Given the description of an element on the screen output the (x, y) to click on. 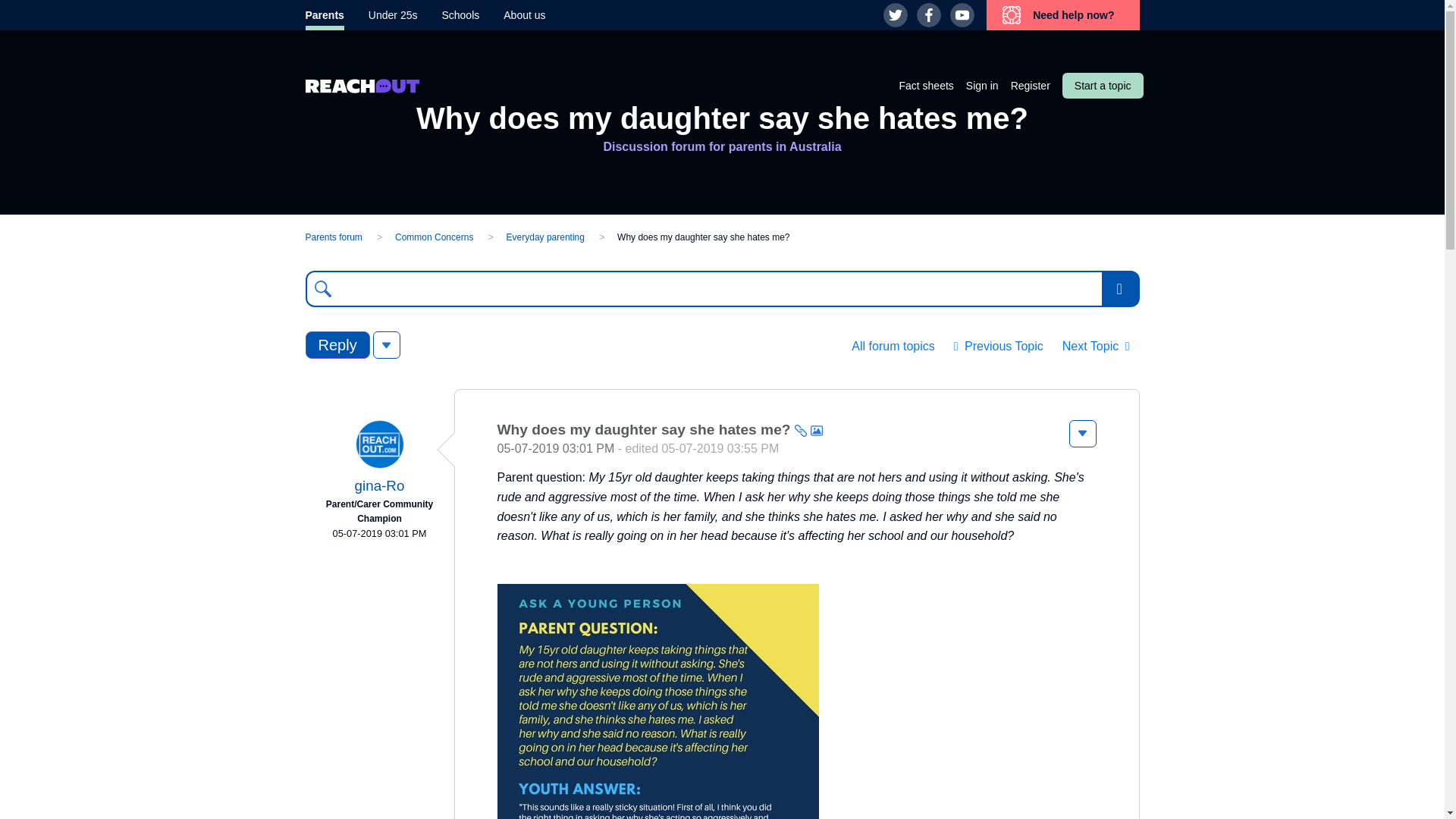
How can I help my daughter through a break up? (997, 346)
Posted on (378, 533)
Parents (323, 15)
About us (523, 15)
Need help now? (1062, 15)
Schools (460, 15)
Facebook (928, 15)
Show option menu (1082, 433)
Youtube (962, 15)
Fact sheets (925, 85)
